Given the description of an element on the screen output the (x, y) to click on. 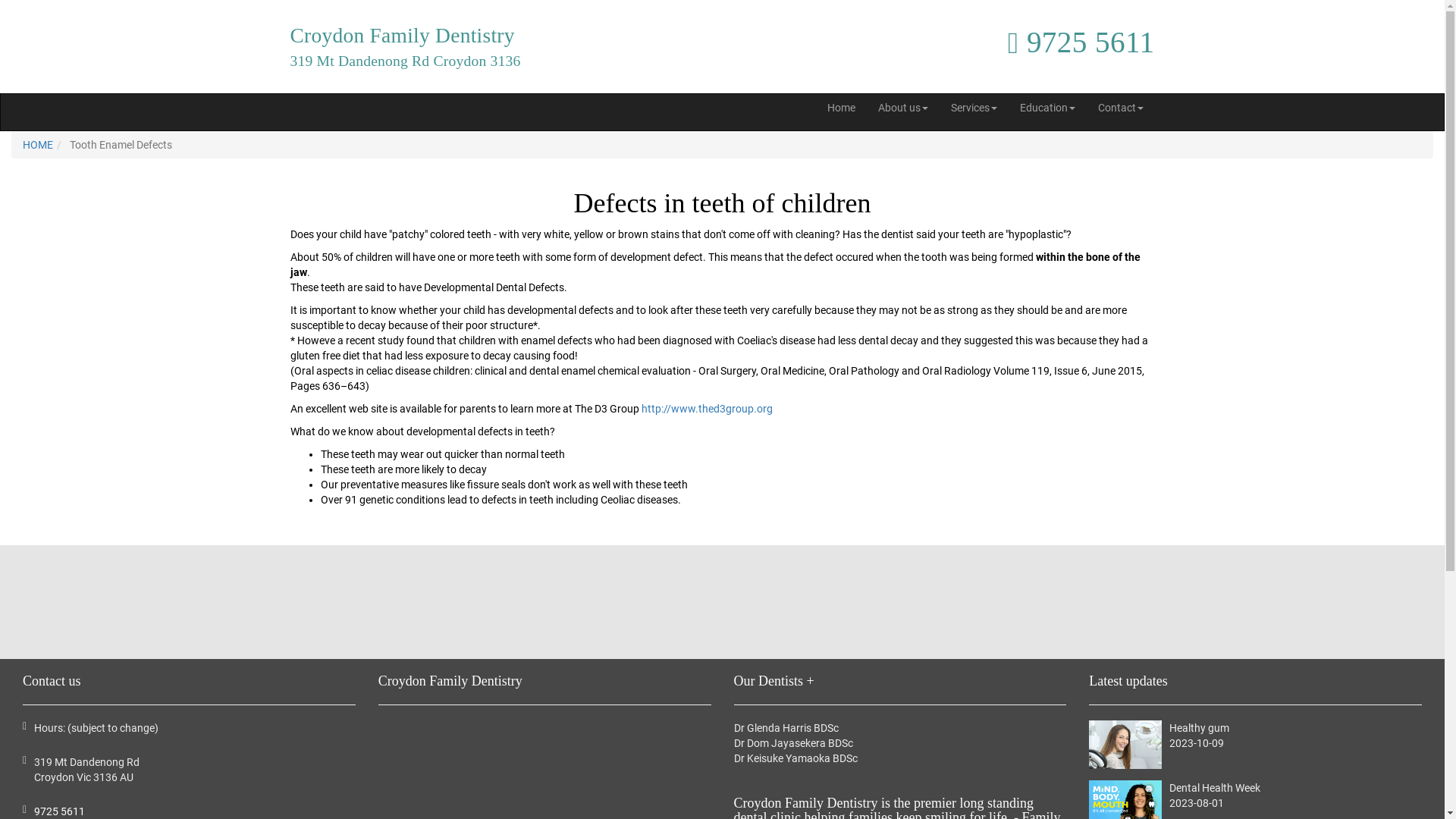
Croydon Family Dentistry Element type: text (401, 35)
HOME Element type: text (37, 144)
9725 5611 Element type: text (1080, 41)
Home Element type: text (840, 107)
Contact Element type: text (1120, 107)
Services Element type: text (973, 107)
Education Element type: text (1046, 107)
http://www.thed3group.org Element type: text (706, 408)
9725 5611 Element type: text (59, 811)
About us Element type: text (903, 107)
